Given the description of an element on the screen output the (x, y) to click on. 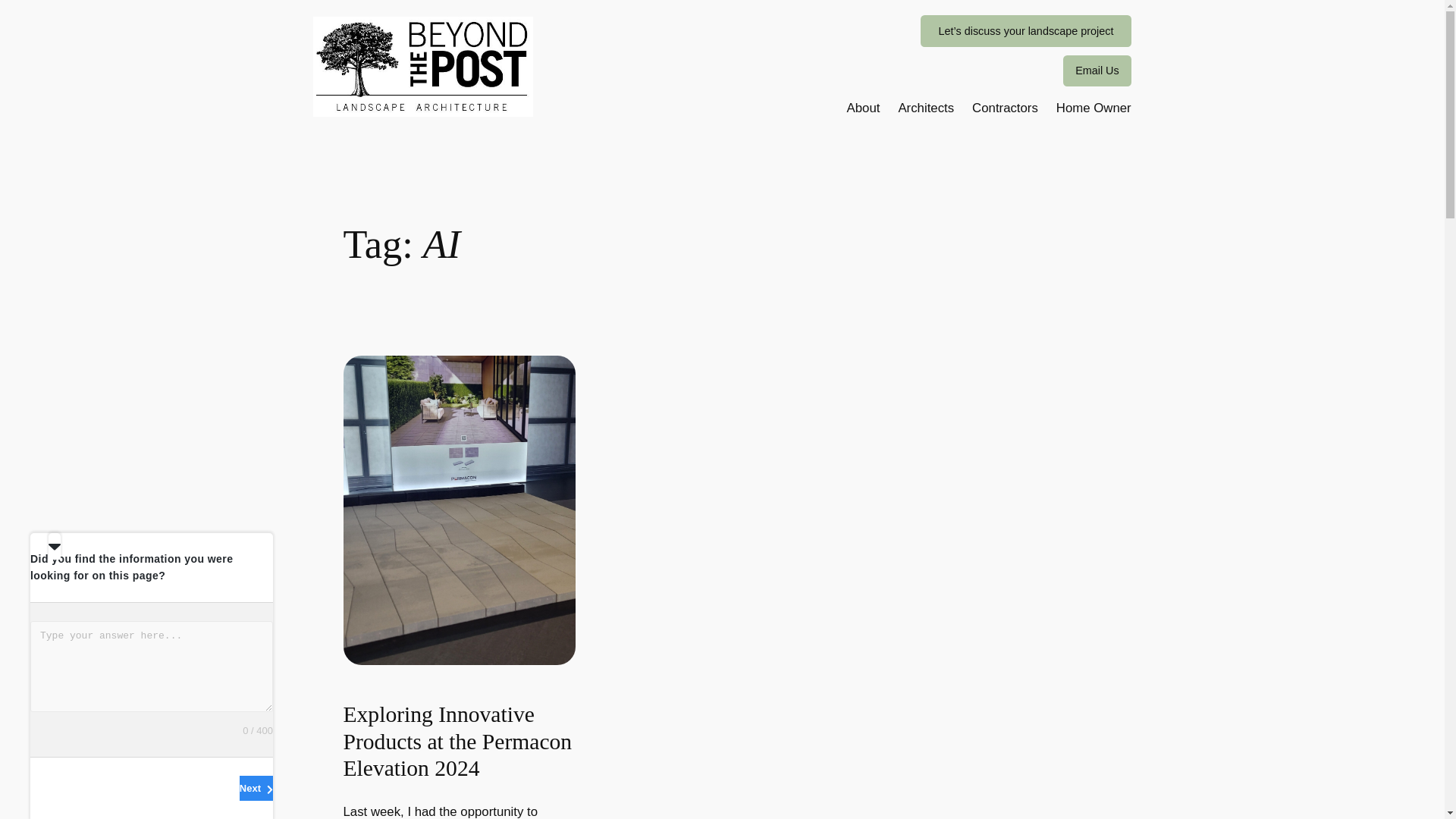
Architects (925, 107)
Email Us (1096, 70)
Home Owner (1094, 107)
Contractors (1005, 107)
Exploring Innovative Products at the Permacon Elevation 2024 (458, 741)
About (863, 107)
